Given the description of an element on the screen output the (x, y) to click on. 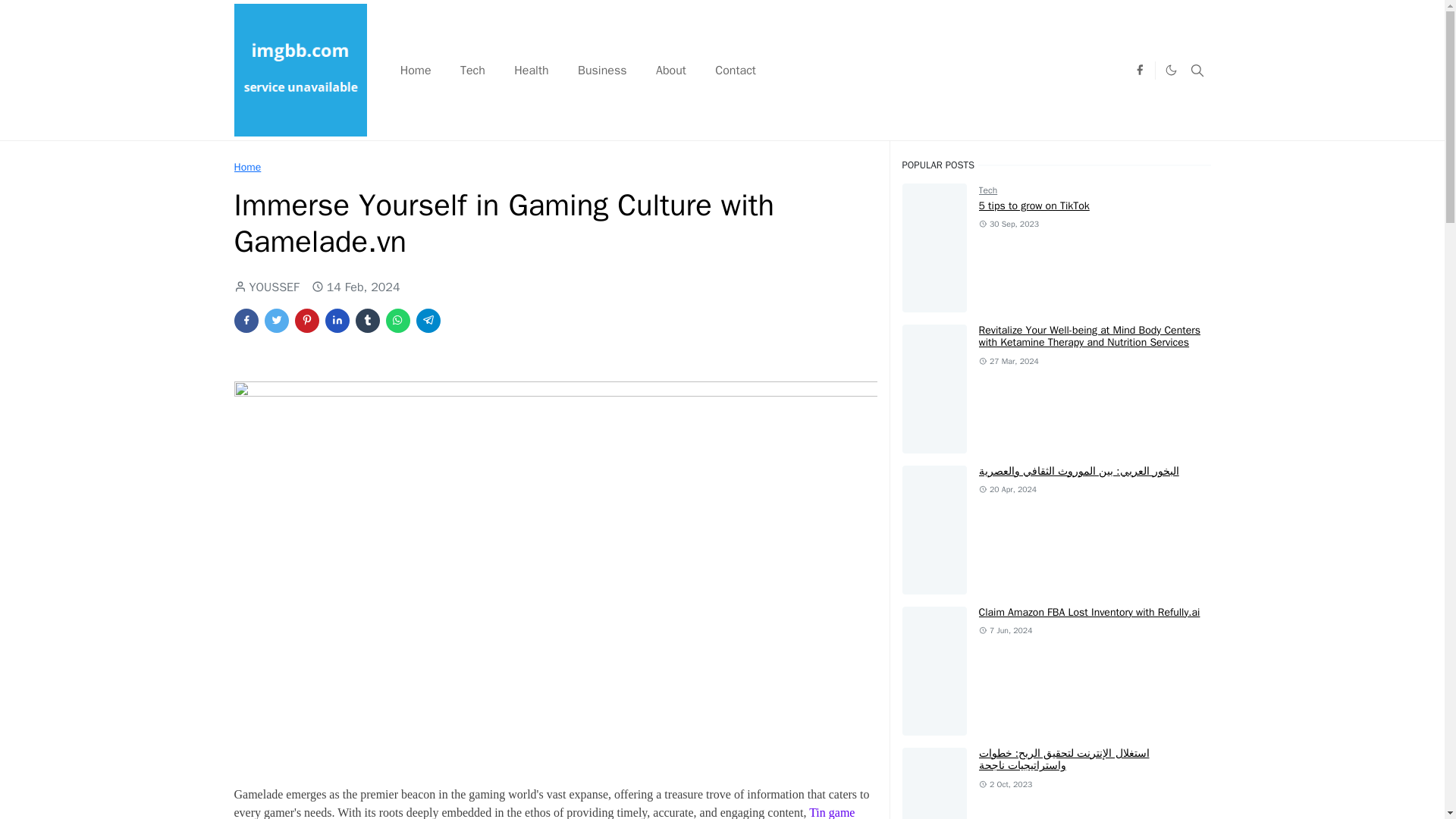
5 tips to grow on TikTok (1033, 205)
About (671, 69)
Health (531, 69)
Home (415, 69)
Facebook Share (244, 320)
Contact (735, 69)
Linkedin Share (336, 320)
Share to telegram (426, 320)
Tech (987, 190)
Pin It (306, 320)
Tin game Gamelade (544, 812)
Home (246, 166)
Share to whatsapp (397, 320)
Claim Amazon FBA Lost Inventory with Refully.ai (1088, 612)
Business (602, 69)
